Given the description of an element on the screen output the (x, y) to click on. 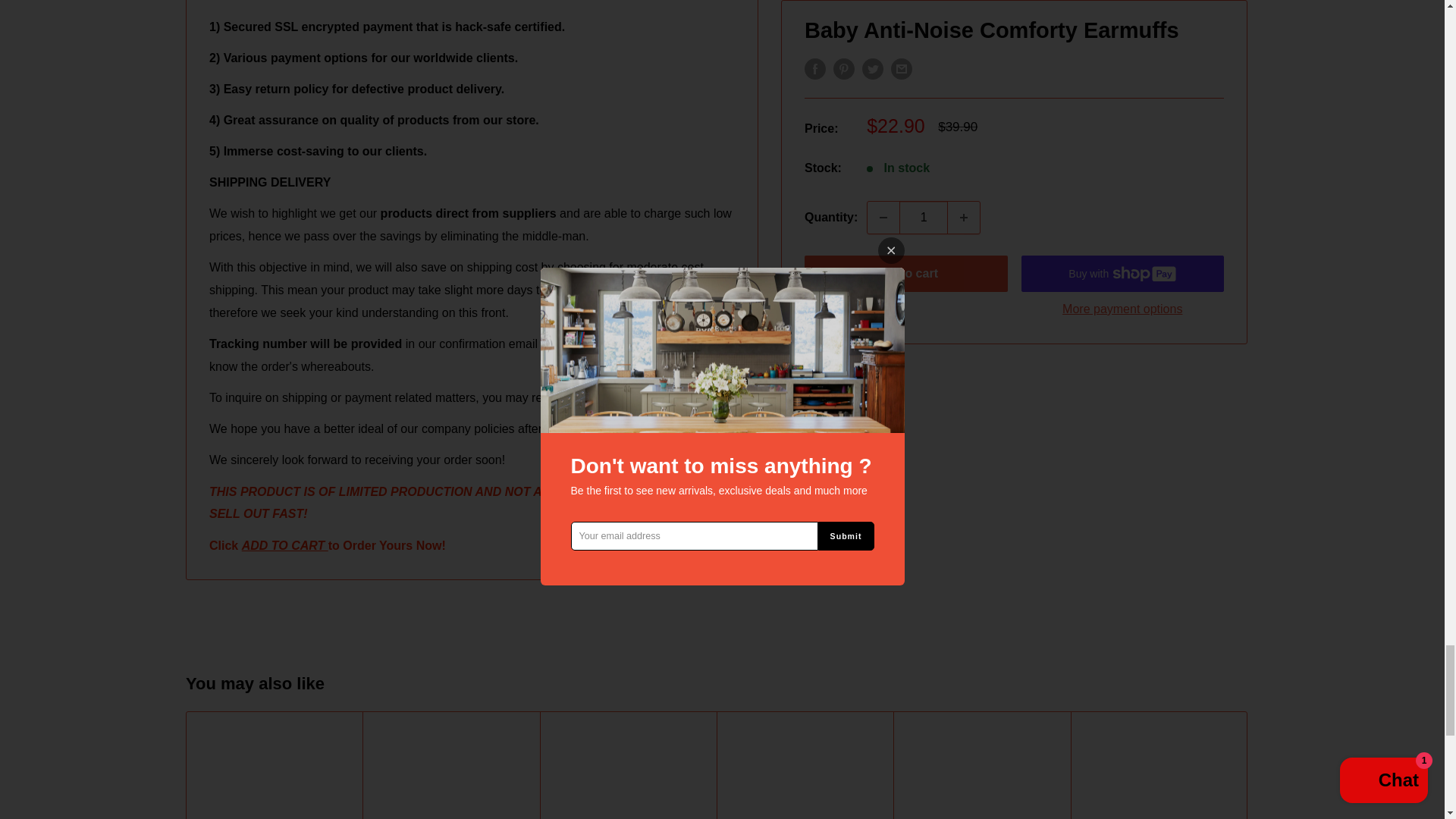
FAQs (609, 397)
